Given the description of an element on the screen output the (x, y) to click on. 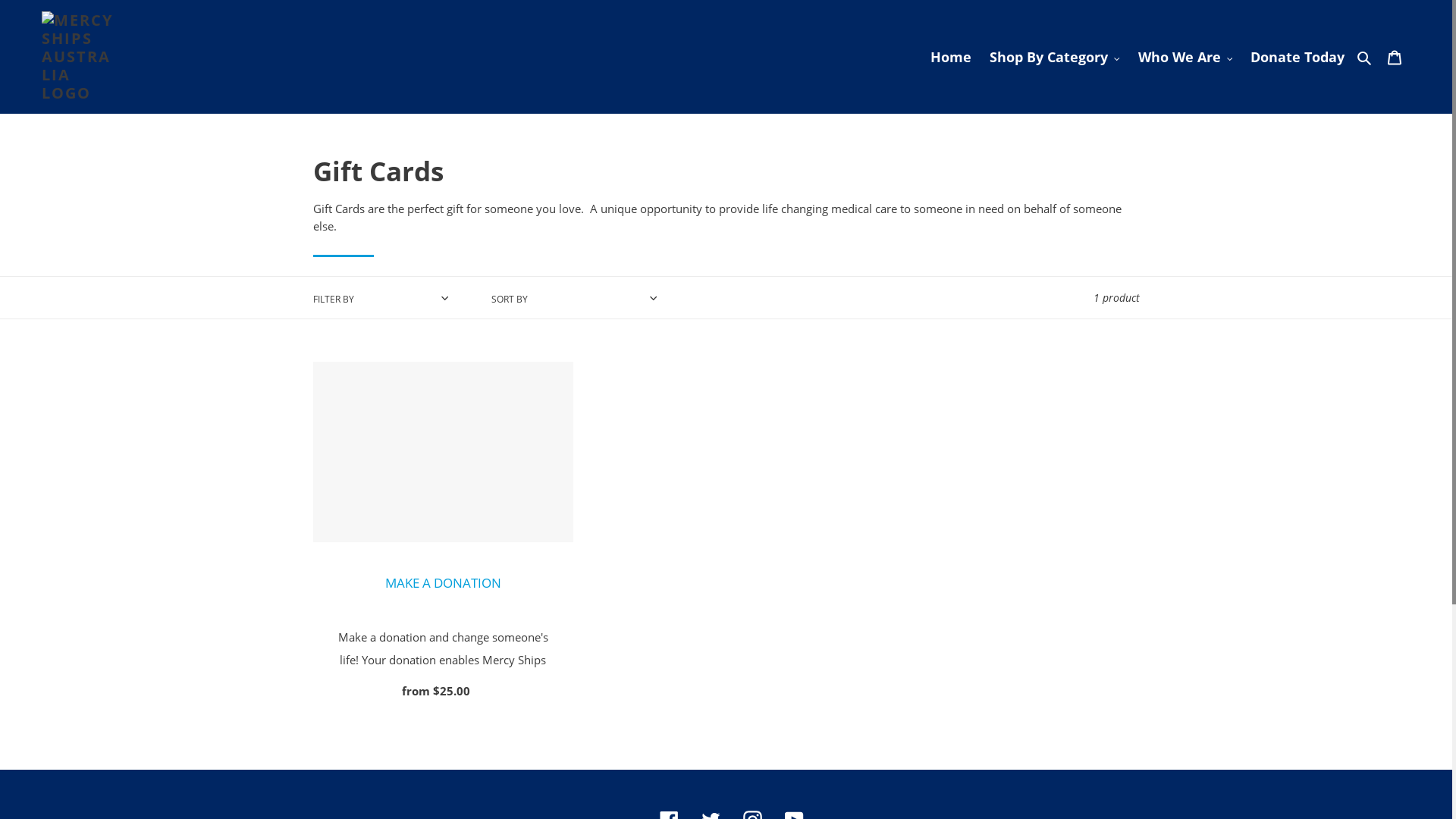
Donate Today Element type: text (1297, 56)
Shop By Category Element type: text (1054, 56)
Search Element type: text (1365, 56)
Home Element type: text (950, 56)
Cart Element type: text (1394, 56)
MAKE A DONATION Element type: text (443, 582)
Who We Are Element type: text (1184, 56)
